Given the description of an element on the screen output the (x, y) to click on. 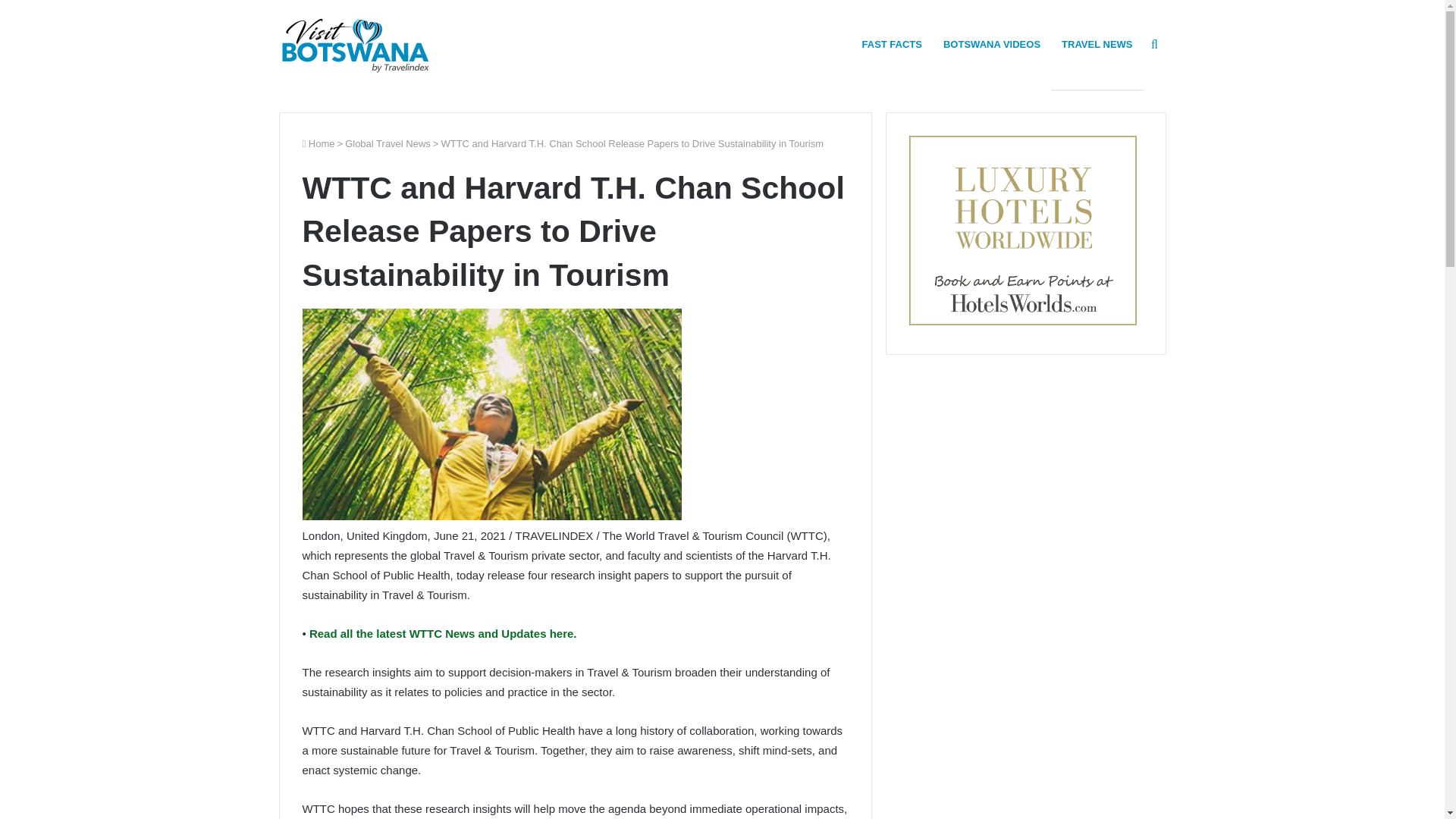
BOTSWANA VIDEOS (992, 44)
Visit Botswana (354, 44)
Global Travel News (387, 143)
FAST FACTS (892, 44)
Home (317, 143)
Read all the latest WTTC News and Updates here. (440, 633)
TRAVEL NEWS (1096, 44)
